Given the description of an element on the screen output the (x, y) to click on. 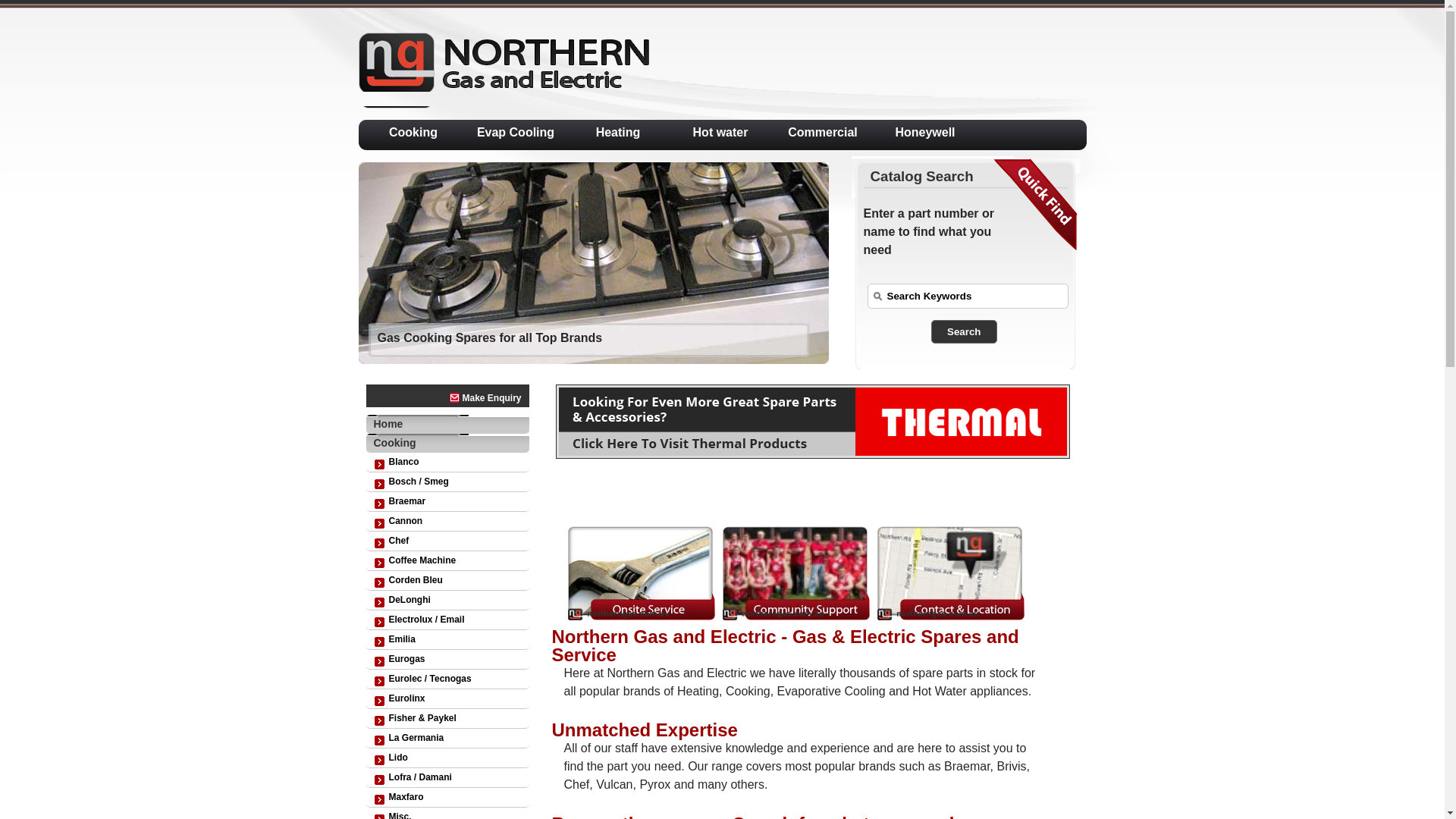
Chef Element type: text (446, 541)
Eurolinx Element type: text (446, 699)
Honeywell Element type: text (924, 132)
Eurolec / Tecnogas Element type: text (446, 679)
La Germania Element type: text (446, 738)
Eurogas Element type: text (446, 659)
Emilia Element type: text (446, 639)
Cooking Element type: text (446, 442)
Bosch / Smeg Element type: text (446, 482)
Cannon Element type: text (446, 521)
Maxfaro Element type: text (446, 797)
Make Enquiry Element type: text (446, 398)
Search Element type: text (963, 331)
Home Element type: text (446, 423)
Cooking Element type: text (413, 132)
Lofra / Damani Element type: text (446, 777)
Blanco Element type: text (446, 462)
Electrolux / Email Element type: text (446, 620)
Corden Bleu Element type: text (446, 580)
Evap Cooling Element type: text (515, 132)
Coffee Machine Element type: text (446, 561)
Hot water Element type: text (719, 132)
Lido Element type: text (446, 758)
DeLonghi Element type: text (446, 600)
Commercial Element type: text (822, 132)
Braemar Element type: text (446, 501)
Heating Element type: text (618, 132)
Fisher & Paykel Element type: text (446, 718)
